Given the description of an element on the screen output the (x, y) to click on. 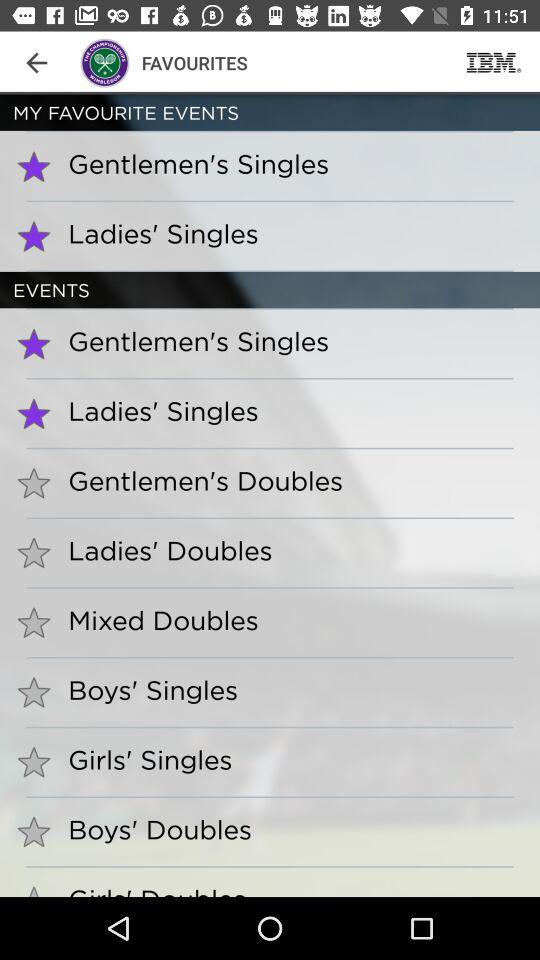
click the my favourite events (270, 112)
